Given the description of an element on the screen output the (x, y) to click on. 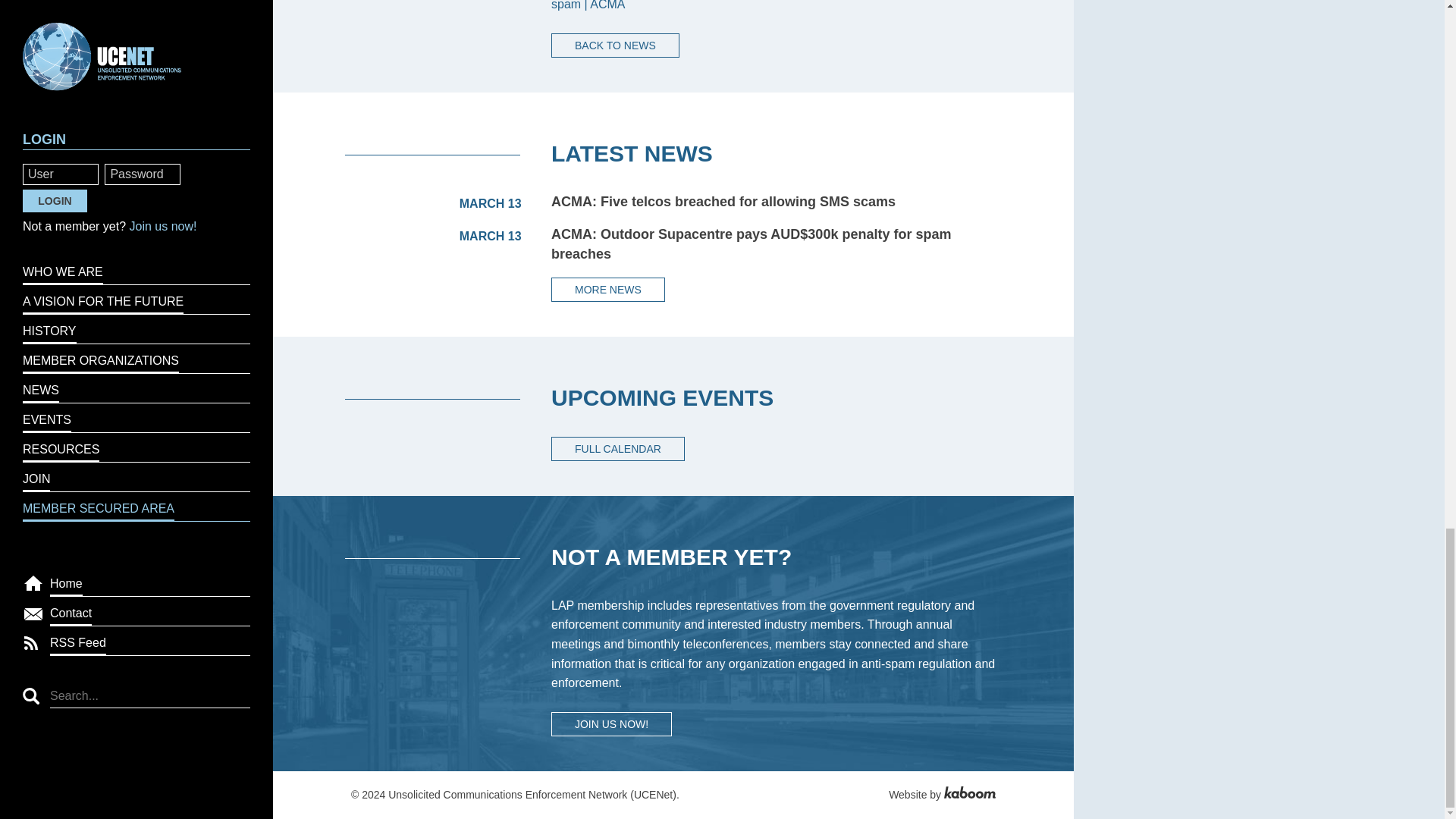
JOIN US NOW! (611, 723)
MORE NEWS (608, 289)
BACK TO NEWS (615, 45)
ACMA: Five telcos breached for allowing SMS scams (723, 201)
Kaboom (969, 794)
FULL CALENDAR (617, 448)
ACMA: Five telcos breached for allowing SMS scams (723, 201)
